Given the description of an element on the screen output the (x, y) to click on. 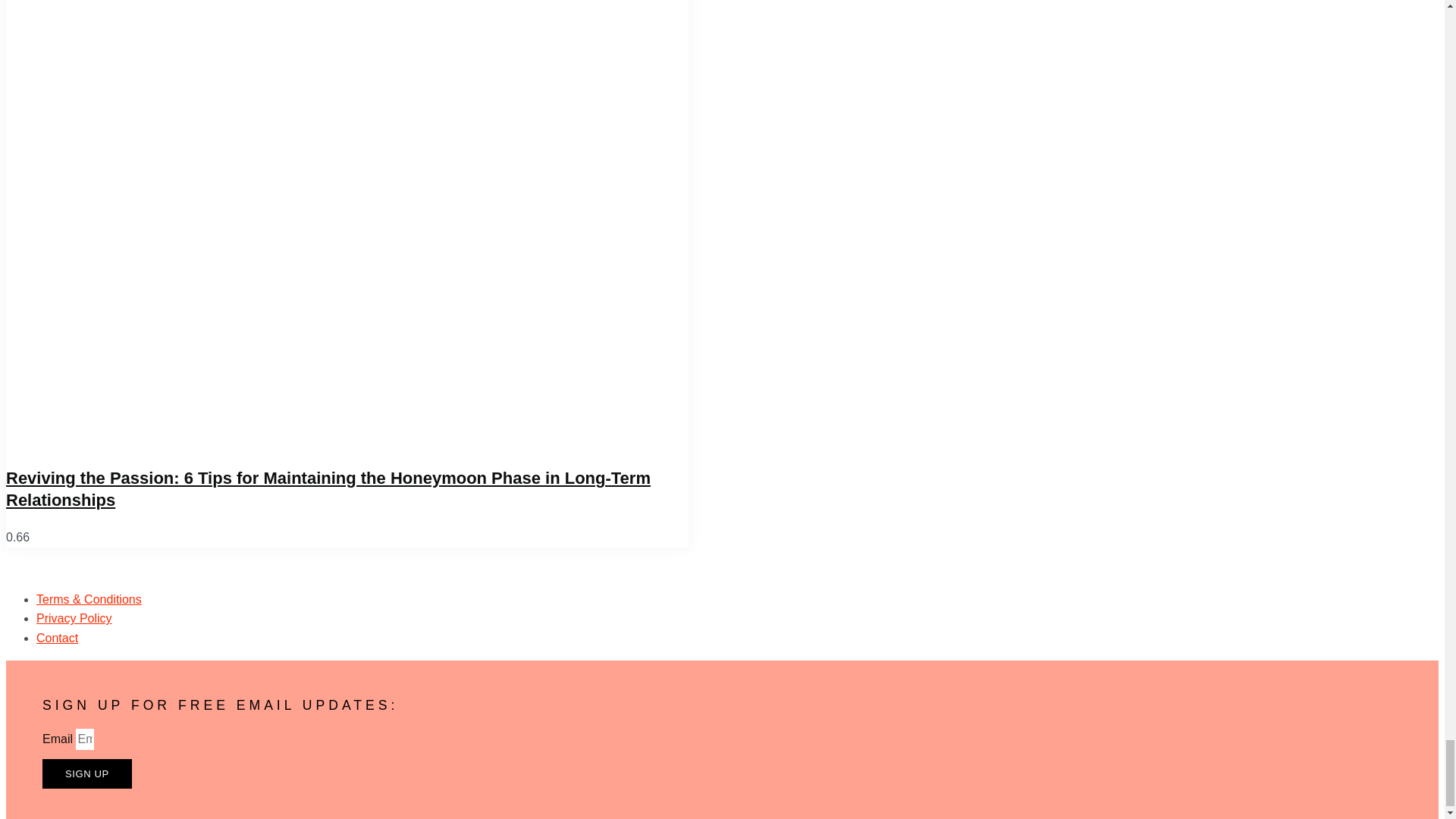
Privacy Policy (74, 617)
SIGN UP (87, 773)
Contact (57, 637)
